Given the description of an element on the screen output the (x, y) to click on. 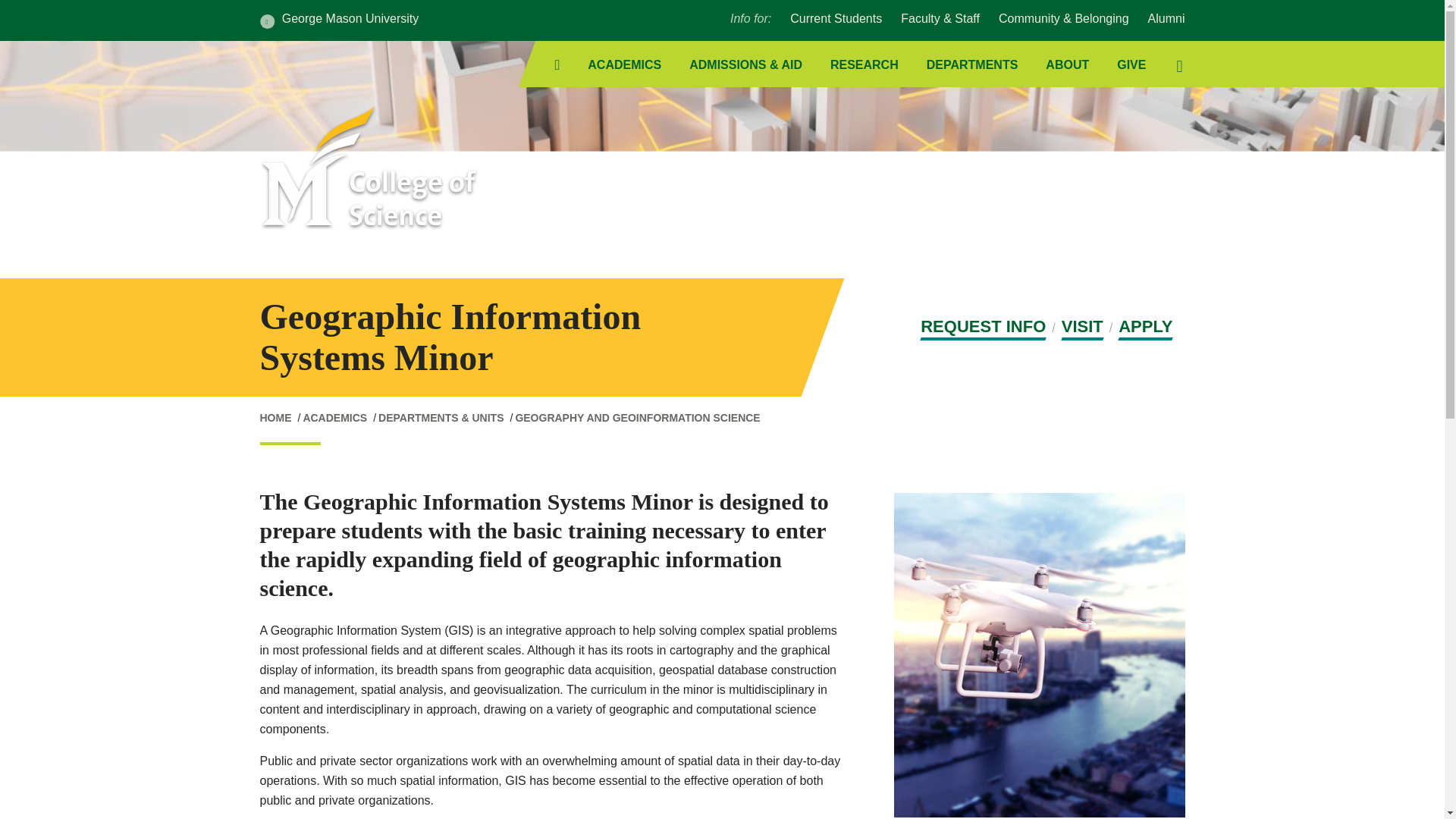
Current Students (836, 18)
ACADEMICS (624, 65)
DEPARTMENTS (971, 65)
George Mason University (339, 20)
GIVE (1130, 65)
Alumni (1166, 18)
HOME (275, 417)
RESEARCH (863, 65)
VISIT (1082, 328)
ACADEMICS (334, 417)
